Given the description of an element on the screen output the (x, y) to click on. 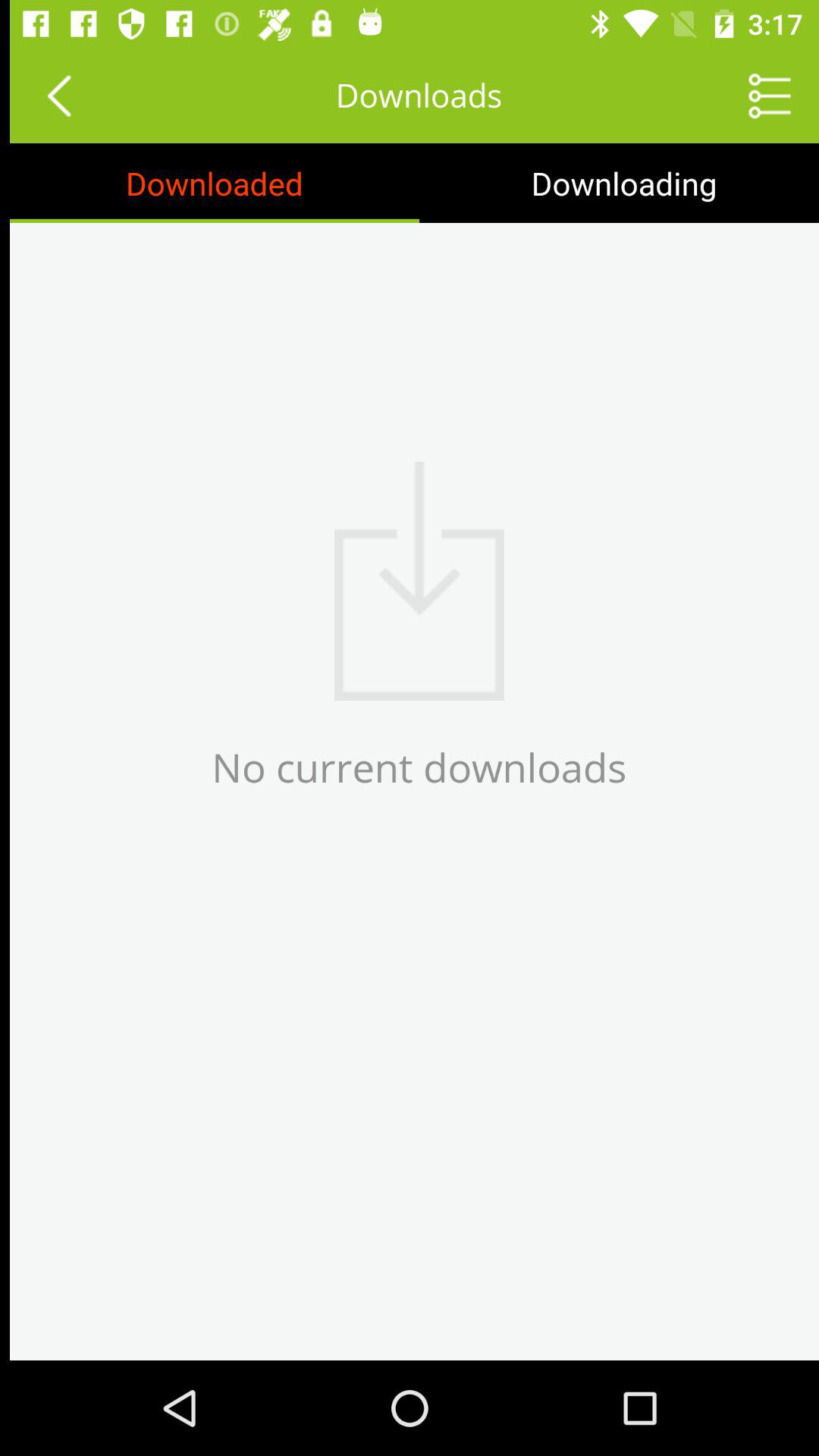
view page options (759, 95)
